Given the description of an element on the screen output the (x, y) to click on. 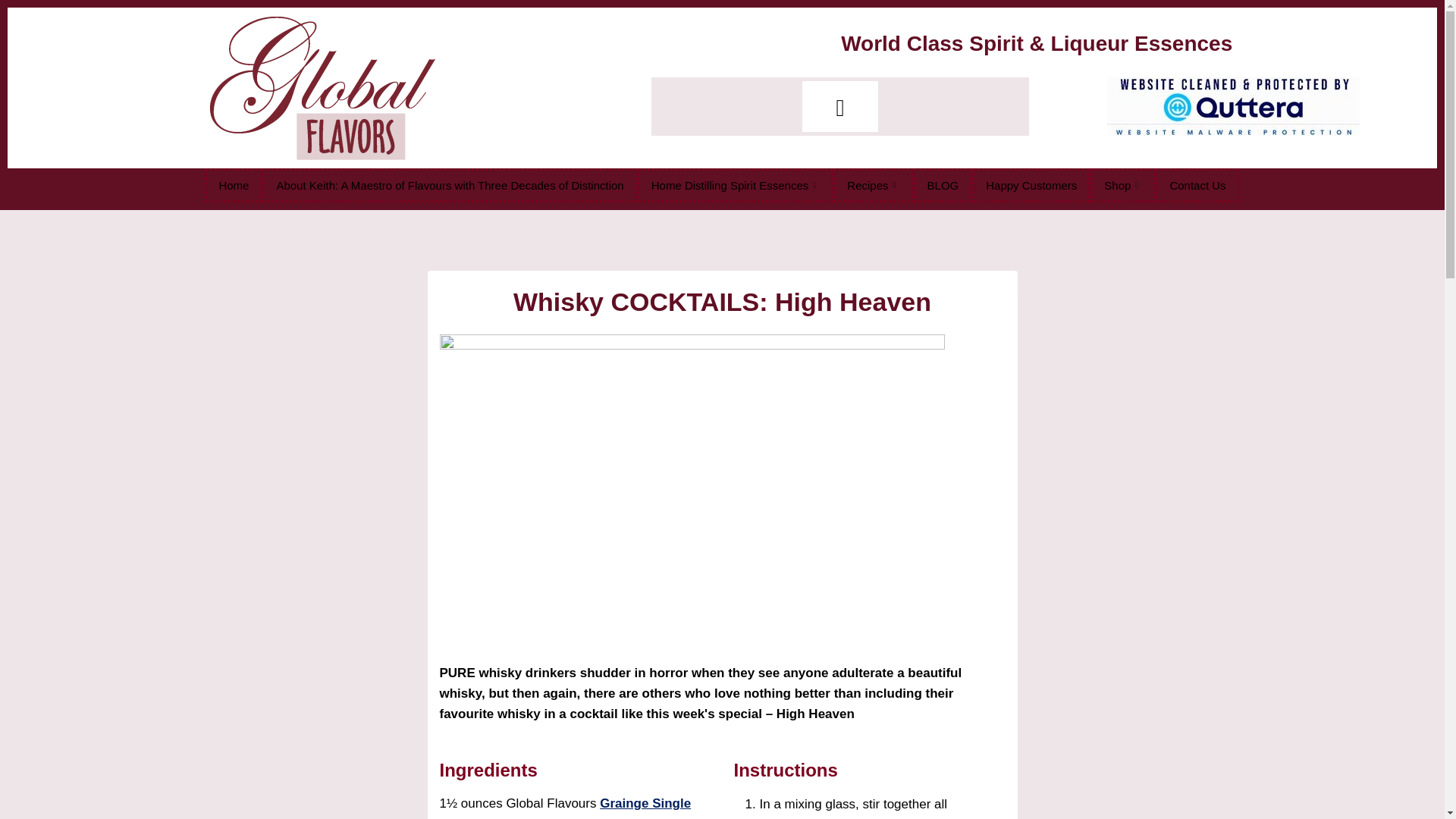
Shop (1123, 185)
Happy Customers (1031, 185)
BLOG (943, 185)
quttera-logo-protected (1232, 105)
Home Distilling Spirit Essences (735, 185)
Home (233, 185)
Contact Us (1197, 185)
Recipes (872, 185)
Grainge Single Malt Whisky Premium Spirit Essence (565, 807)
